Given the description of an element on the screen output the (x, y) to click on. 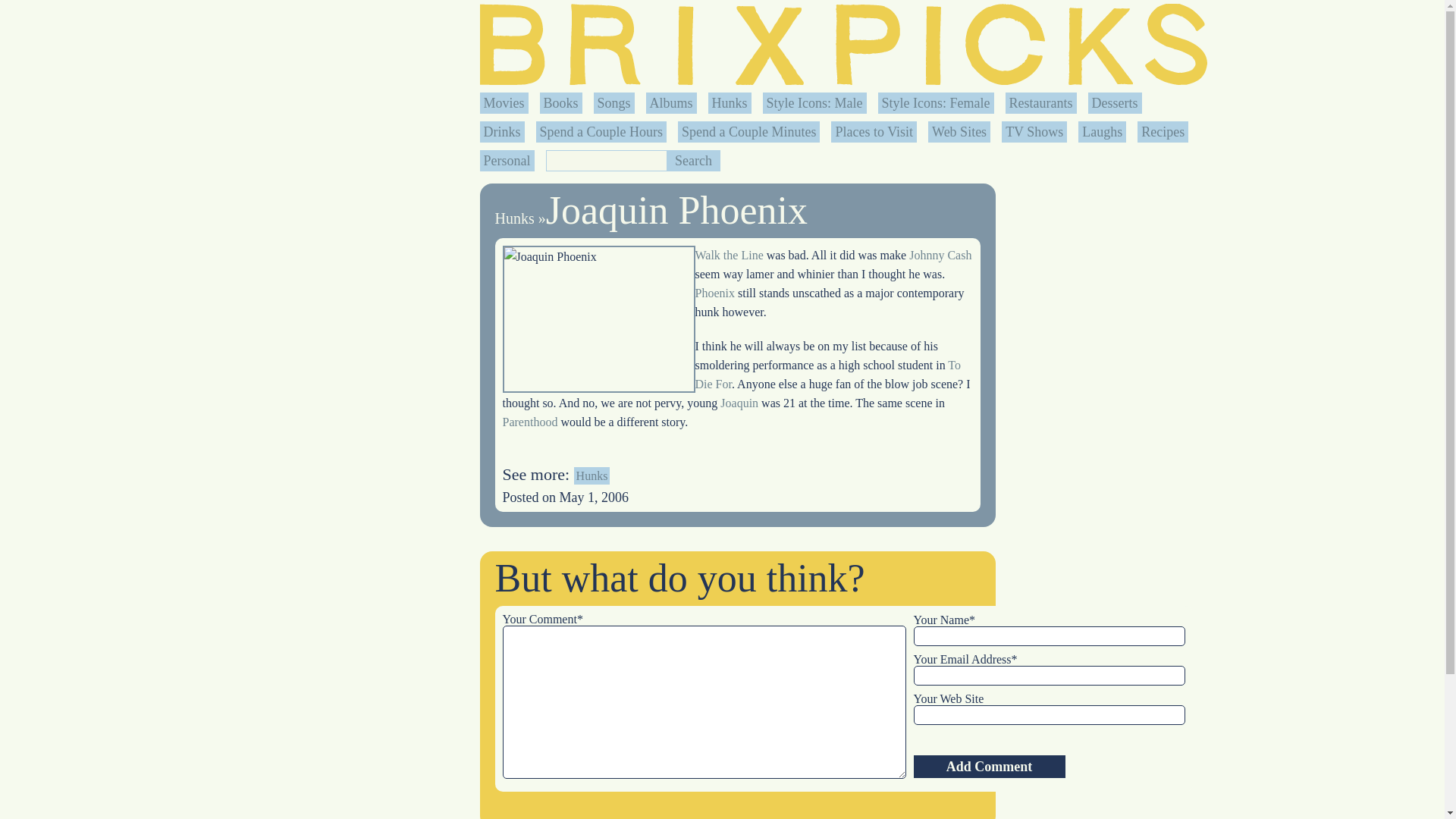
Johnny Cash (939, 254)
Albums (671, 102)
Search (693, 160)
Style Icons: Male (815, 102)
Hunks (514, 217)
Joaquin Phoenix (598, 319)
Phoenix (713, 292)
Movies (503, 102)
Spend a Couple Hours (601, 131)
Web Sites (959, 131)
Search (693, 160)
Books (560, 102)
Search (693, 160)
Style Icons: Female (936, 102)
Recipes (1163, 131)
